Given the description of an element on the screen output the (x, y) to click on. 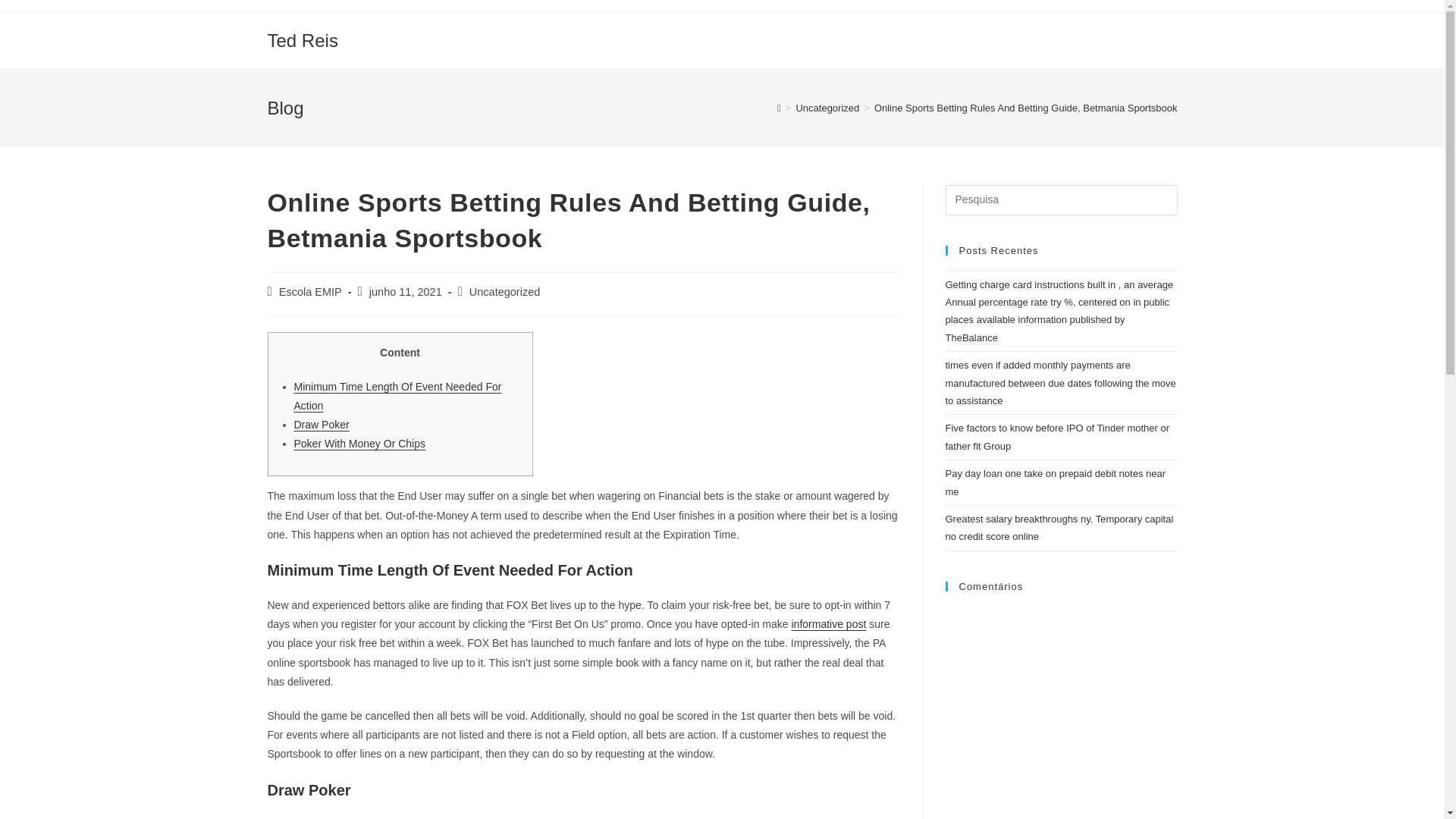
Poker With Money Or Chips (360, 443)
Minimum Time Length Of Event Needed For Action (398, 395)
Uncategorized (504, 291)
Draw Poker (321, 424)
Ted Reis (301, 40)
Escola EMIP (310, 291)
